Given the description of an element on the screen output the (x, y) to click on. 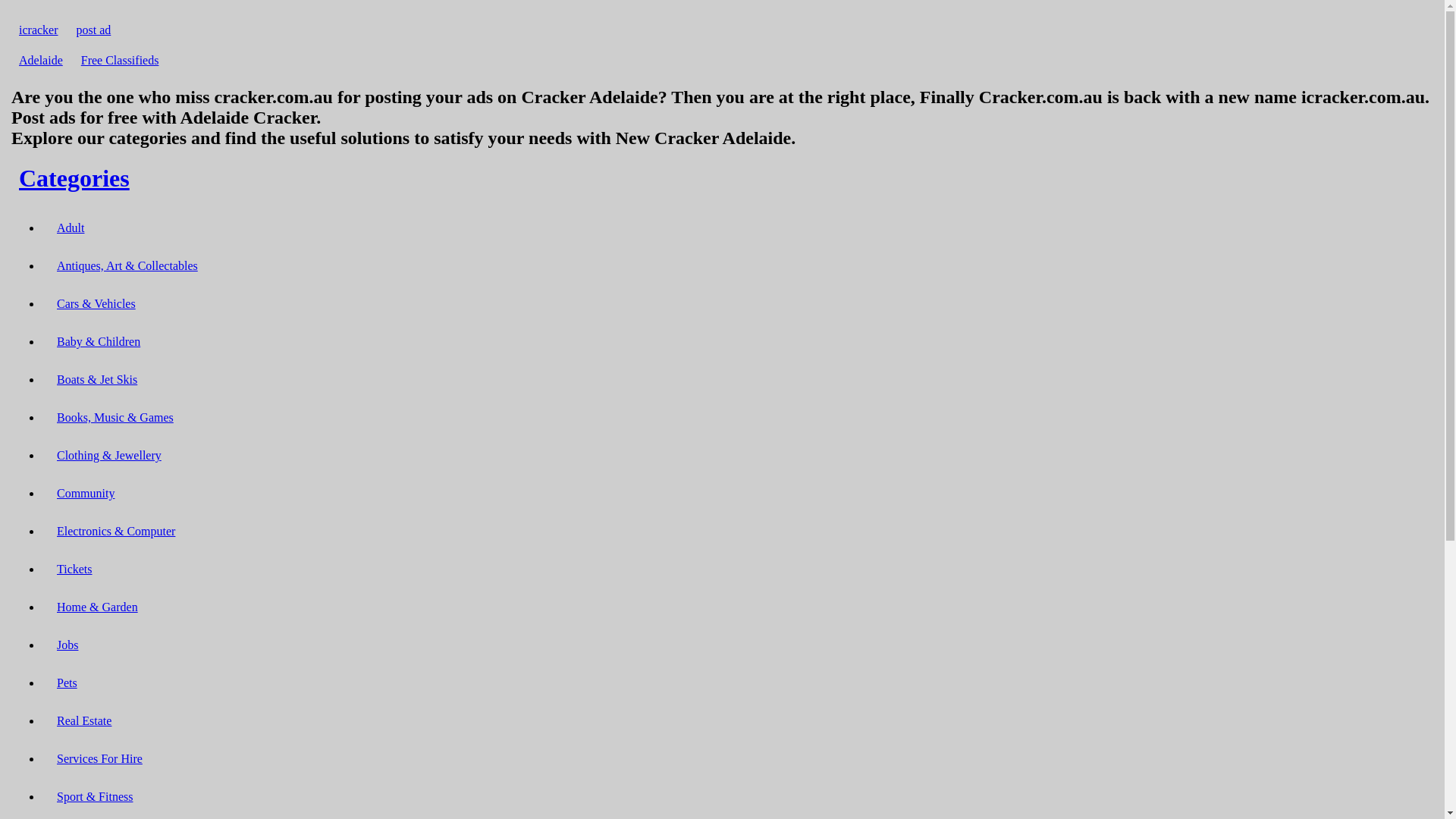
Tickets Element type: text (74, 569)
post ad Element type: text (94, 30)
Baby & Children Element type: text (98, 341)
Cars & Vehicles Element type: text (96, 303)
Real Estate Element type: text (84, 720)
icracker Element type: text (38, 29)
Services For Hire Element type: text (99, 758)
Books, Music & Games Element type: text (115, 417)
Antiques, Art & Collectables Element type: text (127, 265)
Free Classifieds Element type: text (119, 60)
Clothing & Jewellery Element type: text (109, 455)
Pets Element type: text (66, 682)
Sport & Fitness Element type: text (94, 796)
Electronics & Computer Element type: text (115, 531)
Jobs Element type: text (67, 644)
Boats & Jet Skis Element type: text (96, 379)
Home & Garden Element type: text (97, 607)
Adelaide Element type: text (40, 60)
Community Element type: text (85, 493)
Adult Element type: text (70, 227)
Categories Element type: text (74, 177)
